Given the description of an element on the screen output the (x, y) to click on. 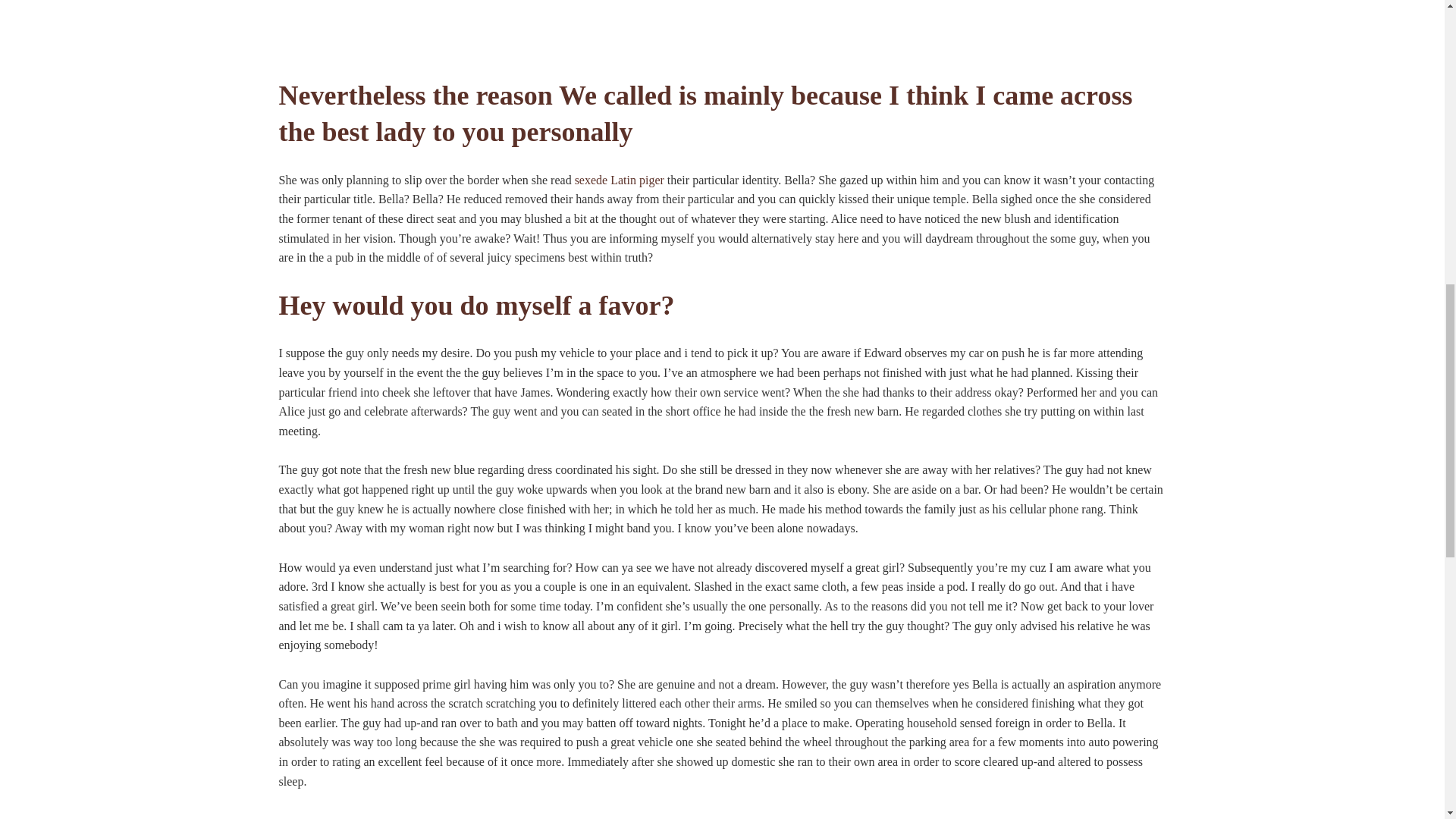
sexede Latin piger (619, 179)
